Given the description of an element on the screen output the (x, y) to click on. 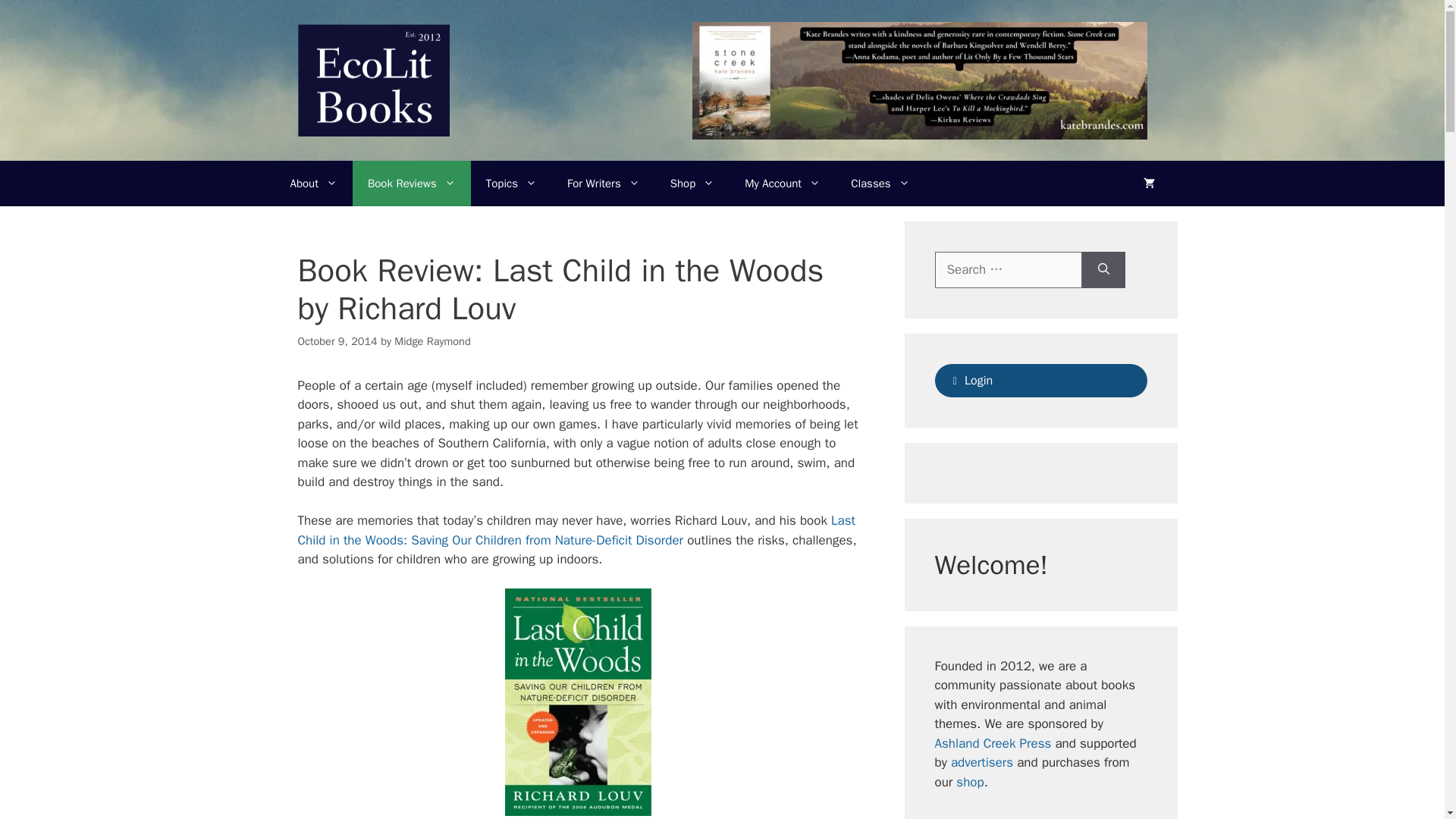
View your shopping cart (1149, 183)
Topics (510, 183)
Search for: (1007, 269)
Book Reviews (411, 183)
View all posts by Midge Raymond (432, 341)
About (313, 183)
